Given the description of an element on the screen output the (x, y) to click on. 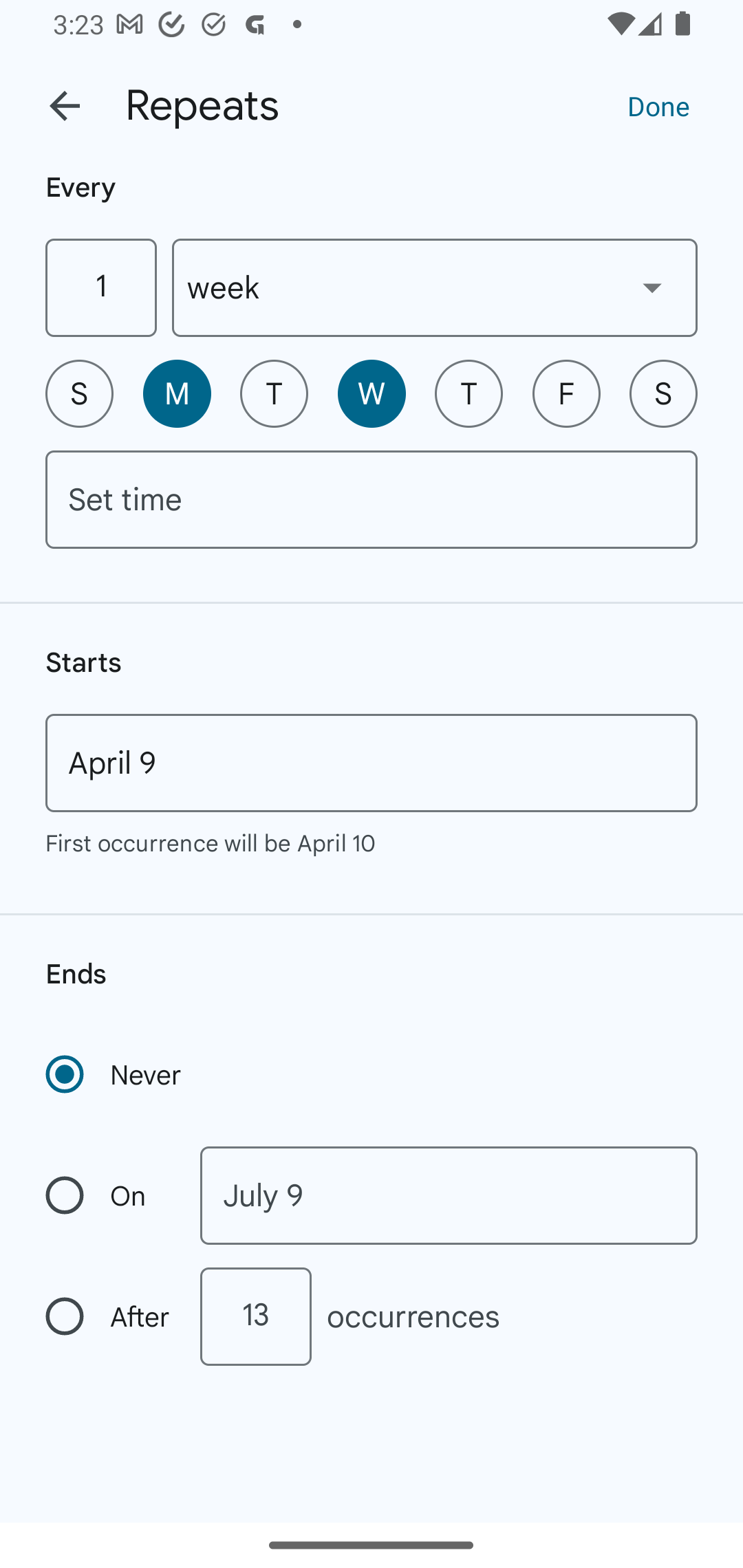
Back (64, 105)
Done (658, 105)
1 (100, 287)
week (434, 287)
Show dropdown menu (652, 286)
S Sunday (79, 393)
M Monday, selected (177, 393)
T Tuesday (273, 393)
W Wednesday, selected (371, 393)
T Thursday (468, 393)
F Friday (566, 393)
S Saturday (663, 393)
Set time (371, 499)
April 9 (371, 762)
Never Recurrence never ends (115, 1074)
July 9 (448, 1195)
On Recurrence ends on a specific date (109, 1195)
13 (255, 1315)
